Given the description of an element on the screen output the (x, y) to click on. 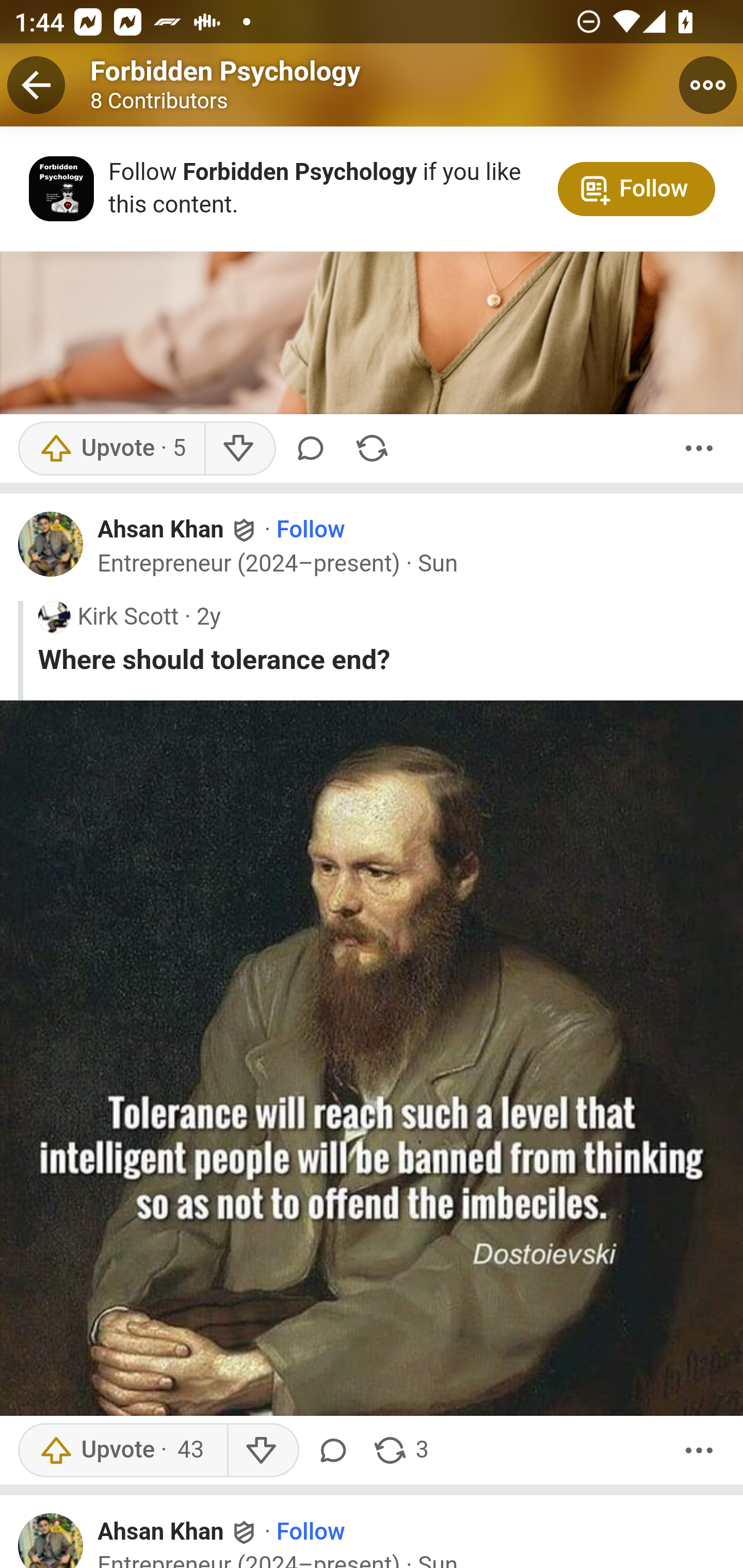
Upvote (111, 449)
Downvote (238, 449)
Comment (313, 449)
Share (372, 449)
More (699, 449)
Profile photo for Ahsan Khan (50, 544)
Ahsan Khan (161, 531)
Follow (310, 531)
Profile photo for Kirk Scott (54, 617)
Upvote (122, 1451)
Downvote (262, 1451)
Comment (336, 1451)
3 shares (400, 1451)
More (699, 1451)
Profile photo for Ahsan Khan (50, 1541)
Ahsan Khan Ahsan Khan   (178, 1532)
Follow (310, 1533)
